Given the description of an element on the screen output the (x, y) to click on. 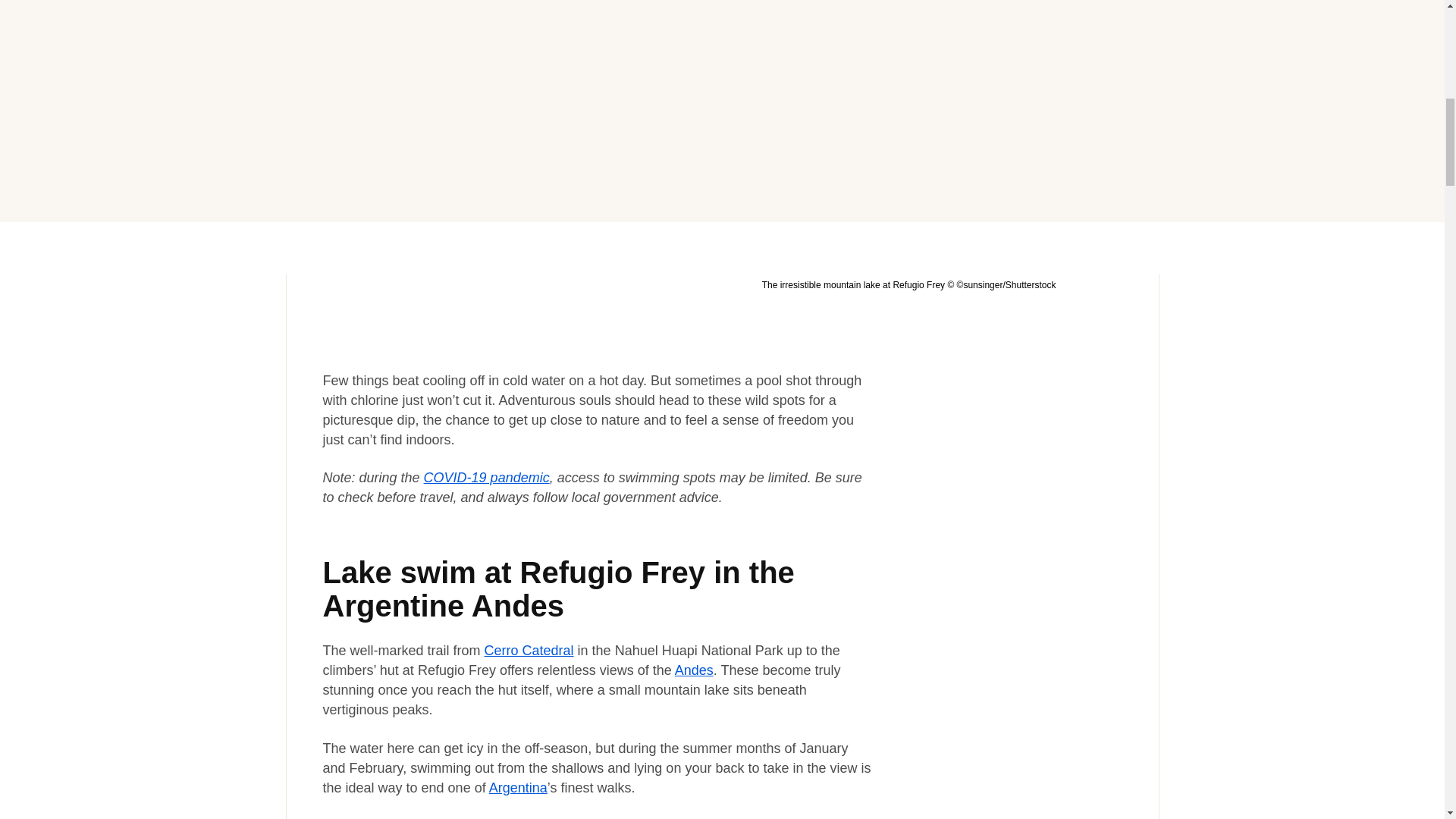
Argentina (518, 787)
Cerro Catedral (528, 650)
Andes (694, 670)
COVID-19 pandemic (486, 477)
